Given the description of an element on the screen output the (x, y) to click on. 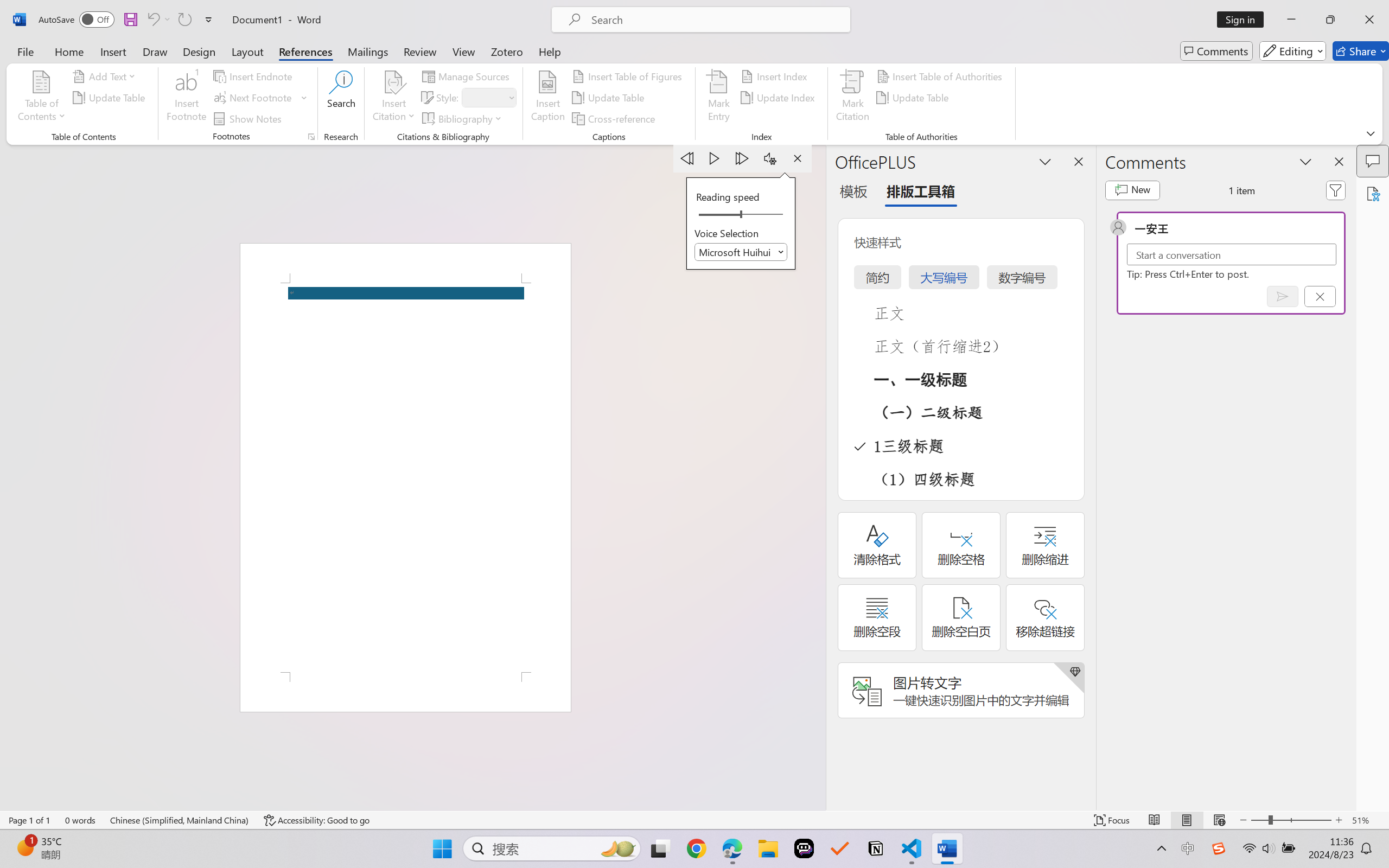
Previous Paragraph (687, 158)
Insert Caption... (547, 97)
Footnote and Endnote Dialog... (311, 136)
Insert Table of Figures... (628, 75)
Show Notes (248, 118)
